Given the description of an element on the screen output the (x, y) to click on. 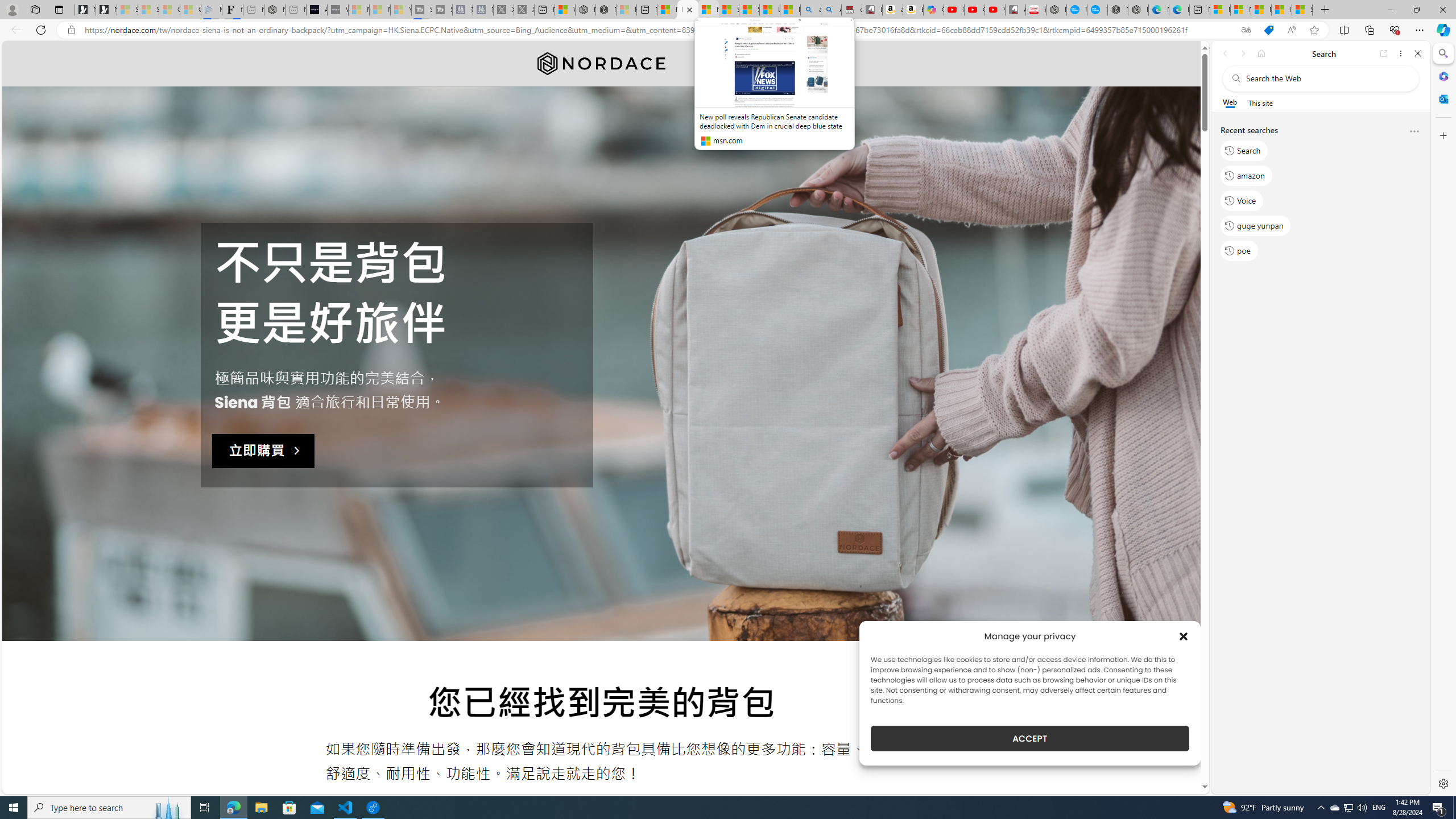
Nordace - Nordace has arrived Hong Kong (1137, 9)
What's the best AI voice generator? - voice.ai - Sleeping (337, 9)
This site has coupons! Shopping in Microsoft Edge (1268, 29)
The most popular Google 'how to' searches (1096, 9)
Class: cmplz-close (1183, 636)
Microsoft account | Privacy (1240, 9)
Microsoft 365 (1442, 76)
